Given the description of an element on the screen output the (x, y) to click on. 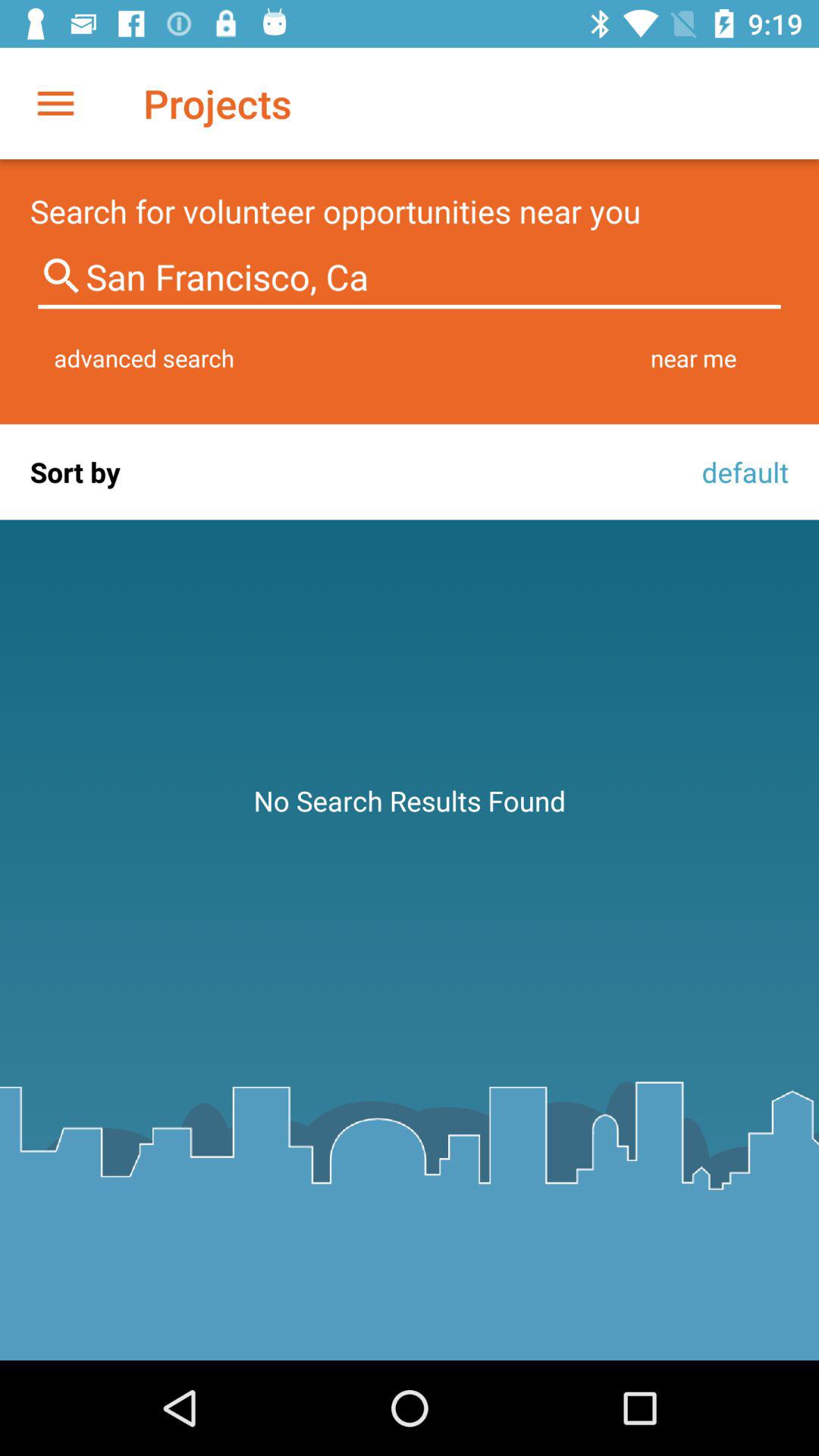
launch the item next to the projects (55, 103)
